Given the description of an element on the screen output the (x, y) to click on. 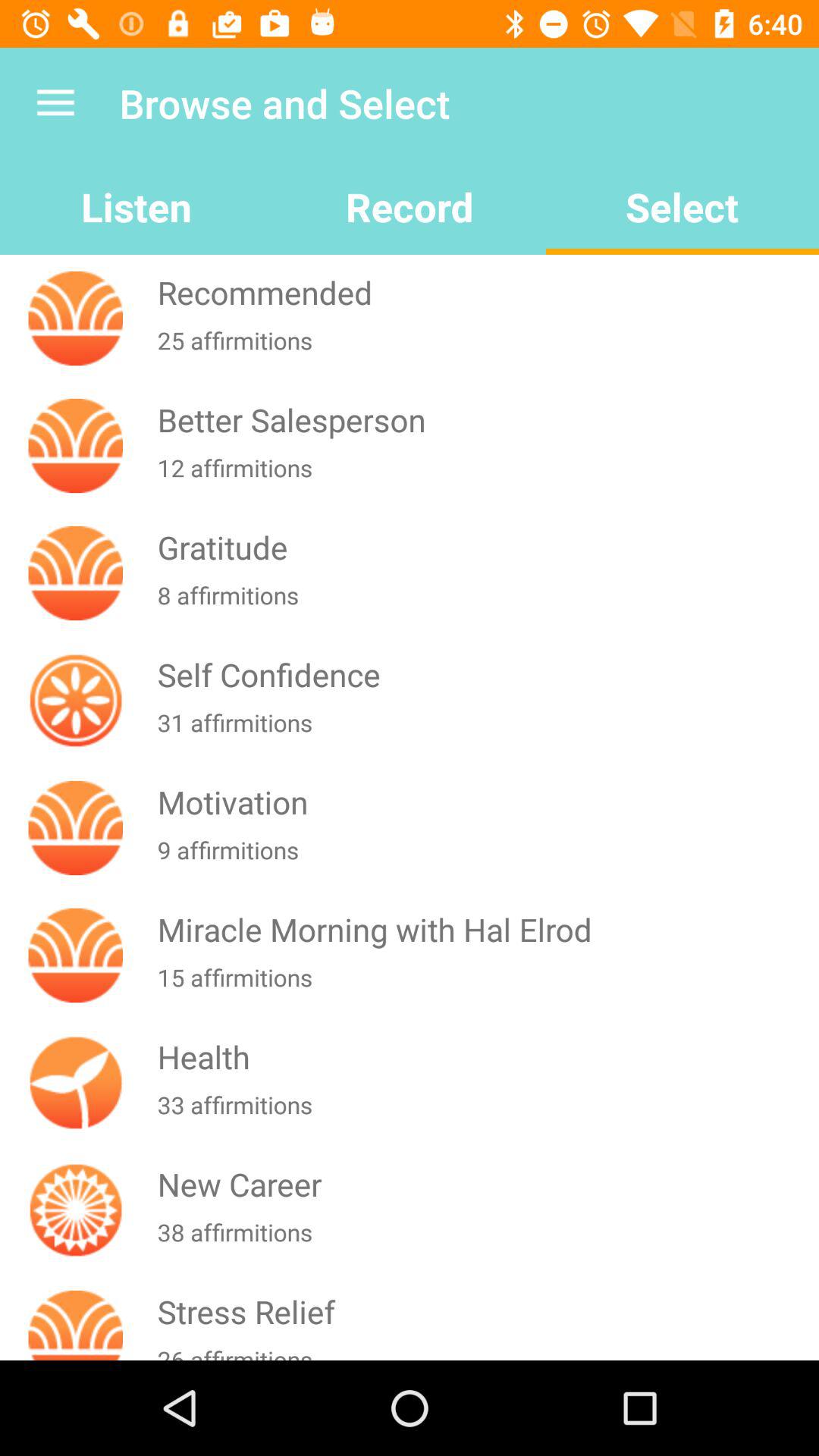
swipe to 9 affirmitions (484, 859)
